Given the description of an element on the screen output the (x, y) to click on. 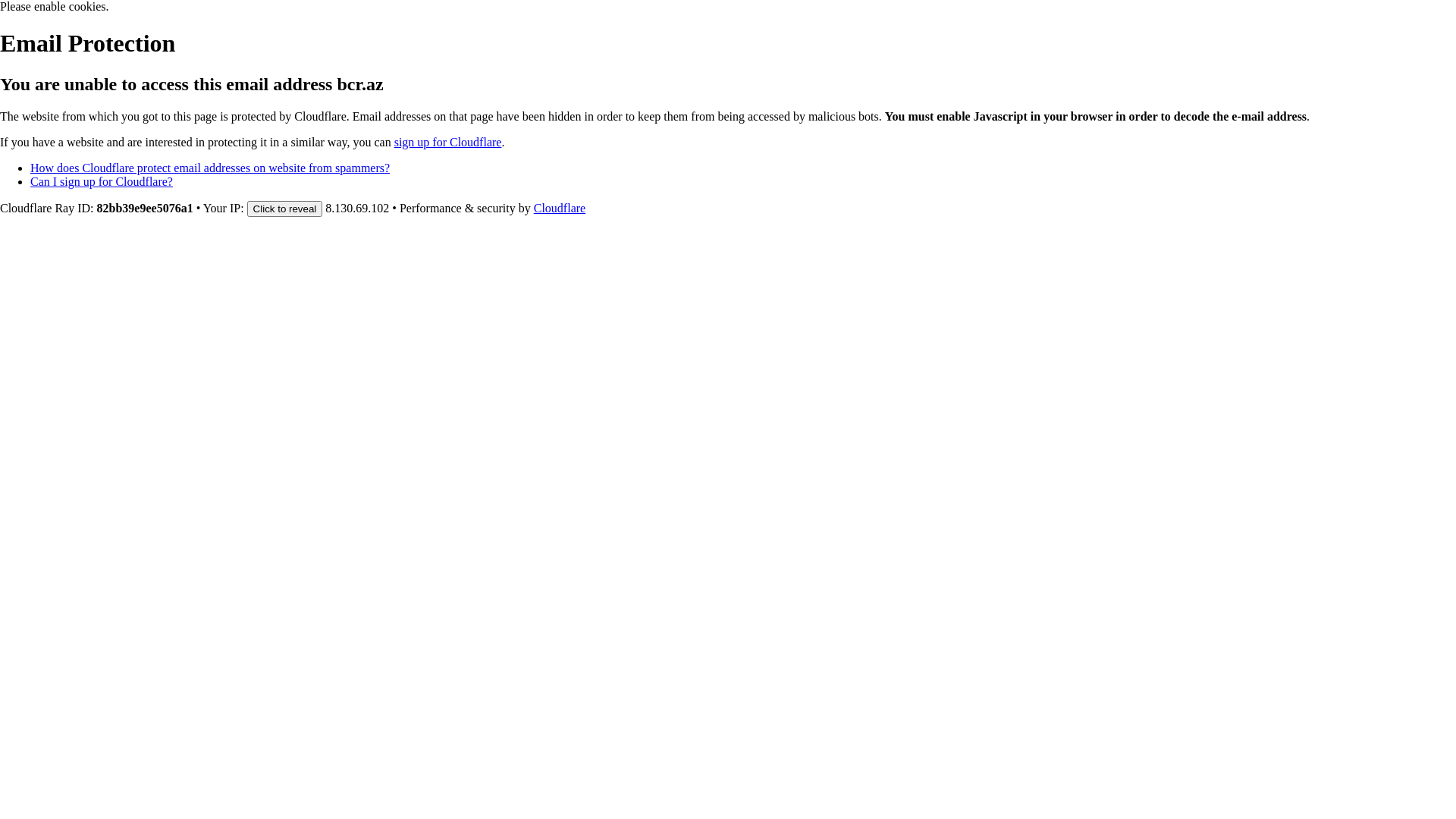
Click to reveal Element type: text (285, 208)
sign up for Cloudflare Element type: text (448, 141)
Can I sign up for Cloudflare? Element type: text (101, 181)
Cloudflare Element type: text (559, 207)
